Given the description of an element on the screen output the (x, y) to click on. 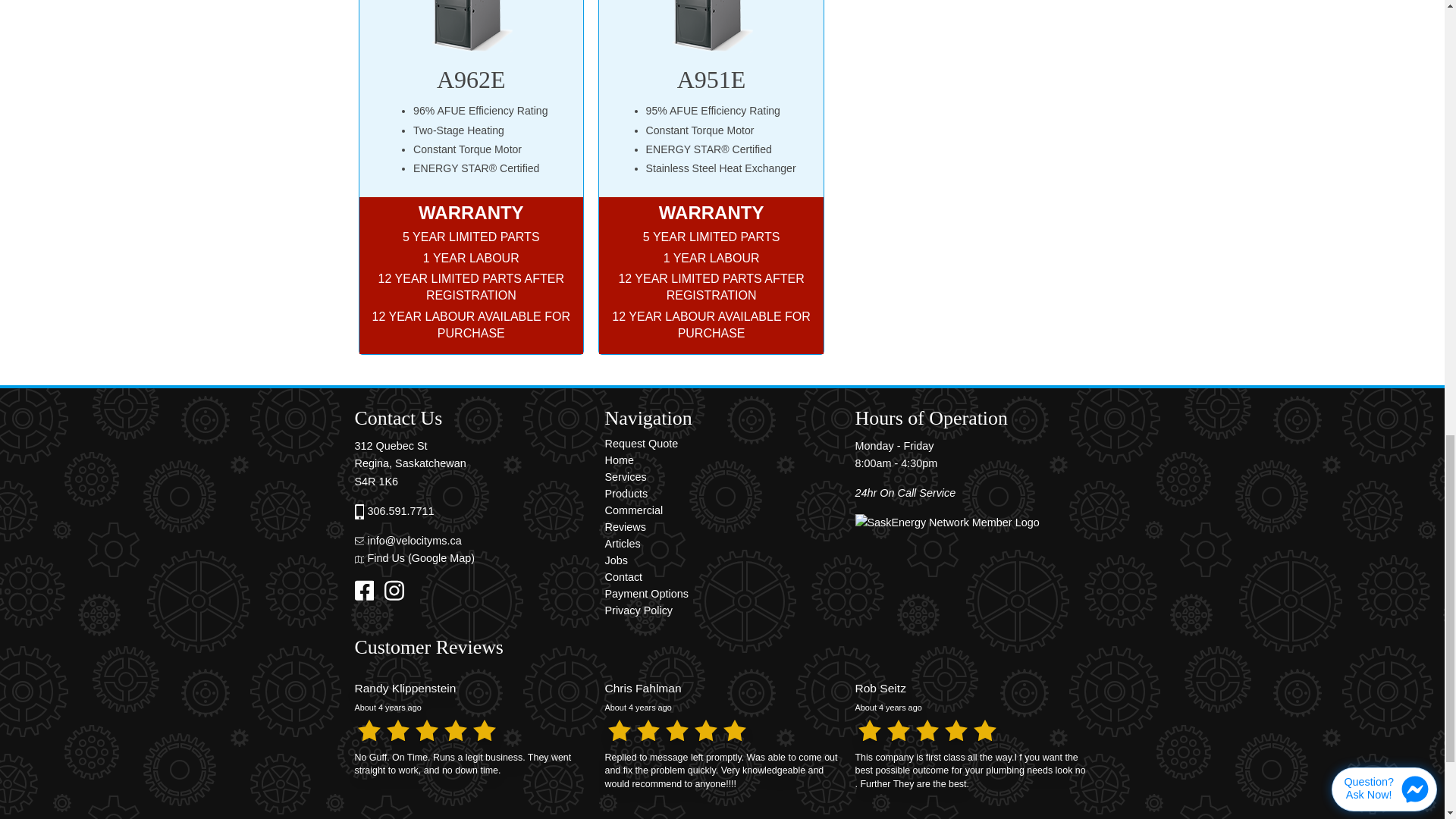
AirEase Furnace A962E (470, 27)
AirEase Furnace A951E (710, 27)
306.591.7711 (399, 510)
312 Quebec St (391, 445)
Find us on Instagram (398, 589)
Follow us on Facebook (368, 589)
